Given the description of an element on the screen output the (x, y) to click on. 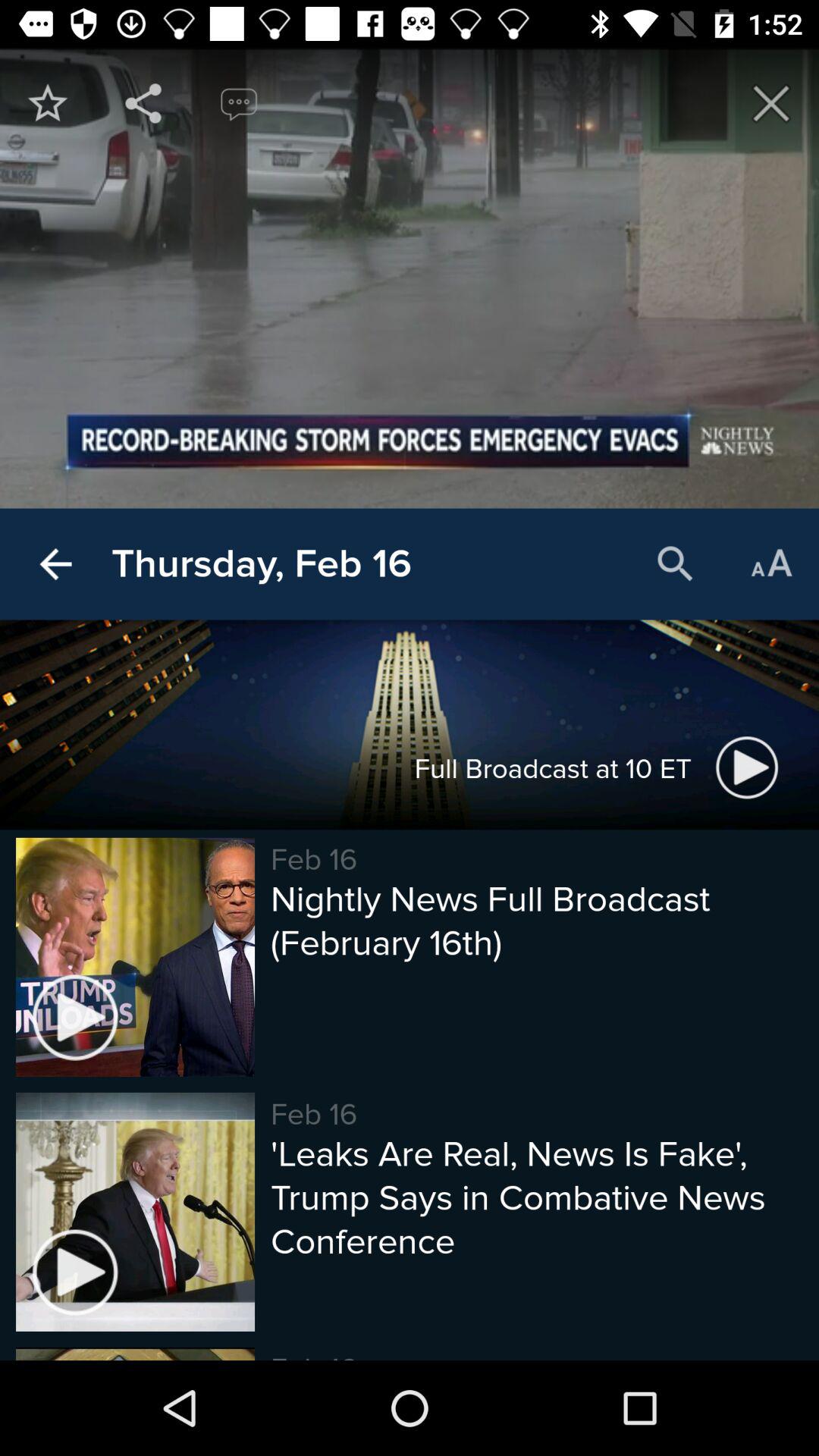
go to the comments (238, 103)
